Given the description of an element on the screen output the (x, y) to click on. 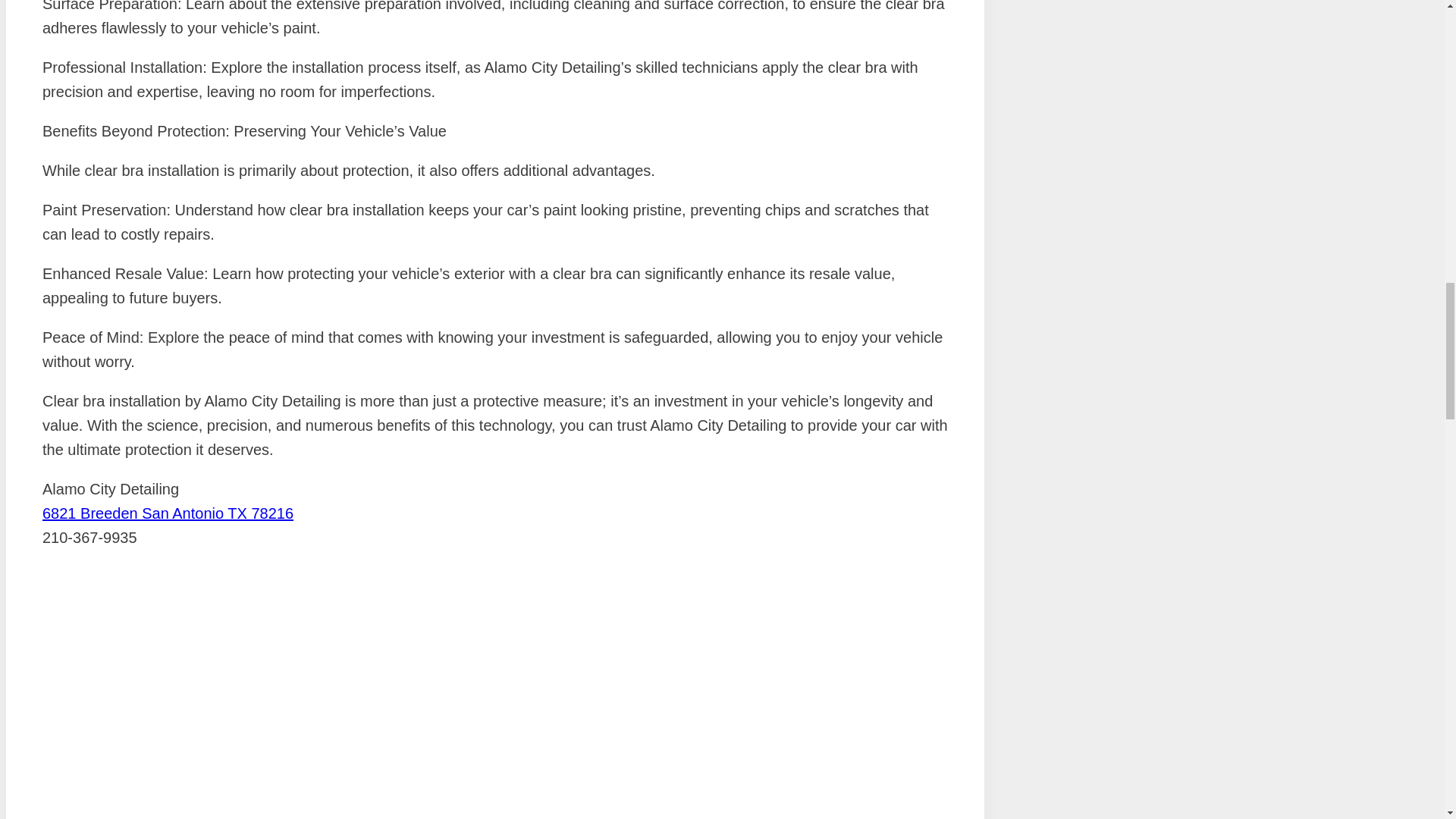
6821 Breeden San Antonio TX 78216 (168, 513)
